Given the description of an element on the screen output the (x, y) to click on. 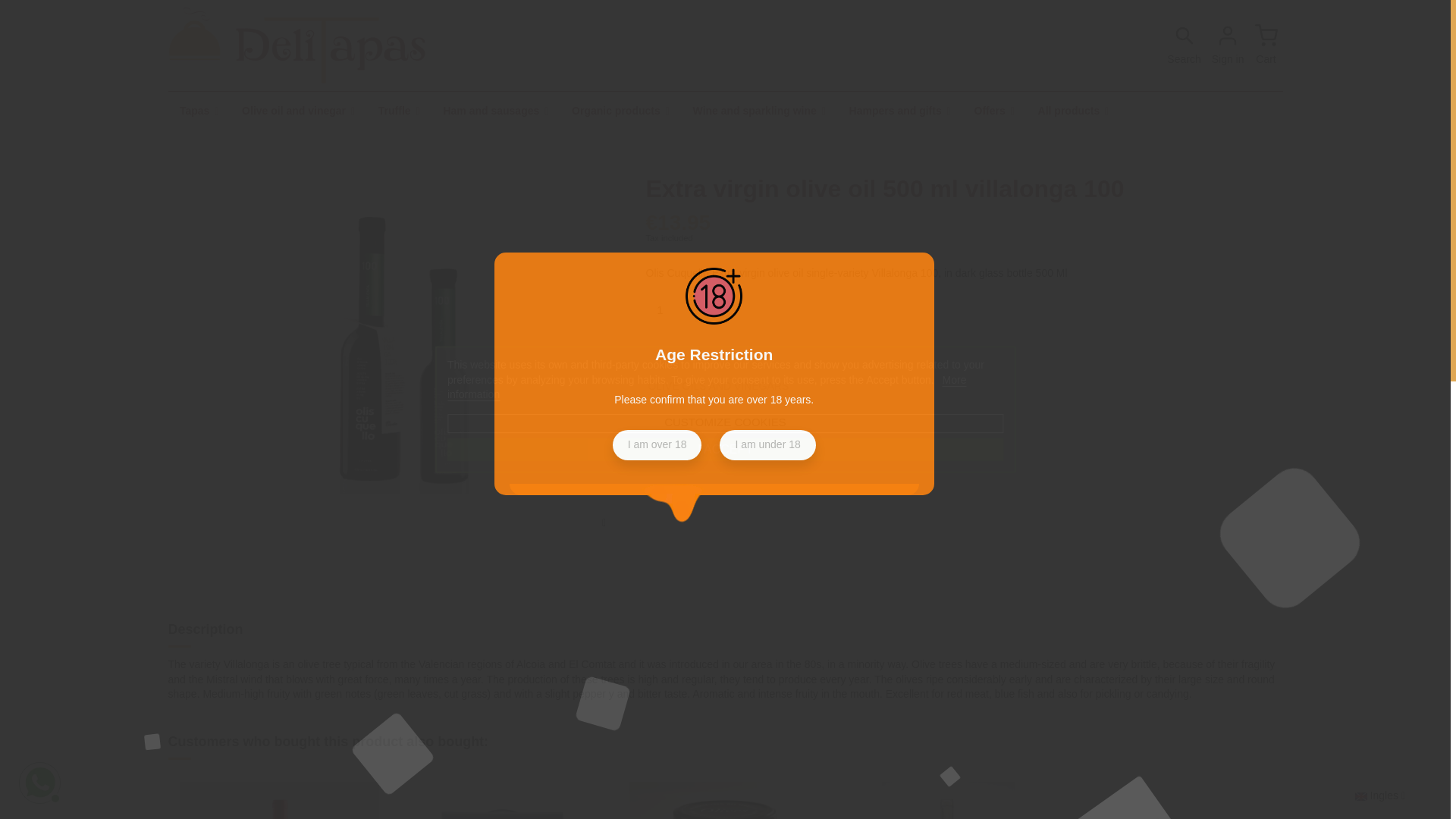
Truffle (398, 110)
Tapas (199, 110)
Organic products (620, 110)
Ham and sausages (495, 110)
1 (668, 309)
Olive oil and vinegar (298, 110)
